Given the description of an element on the screen output the (x, y) to click on. 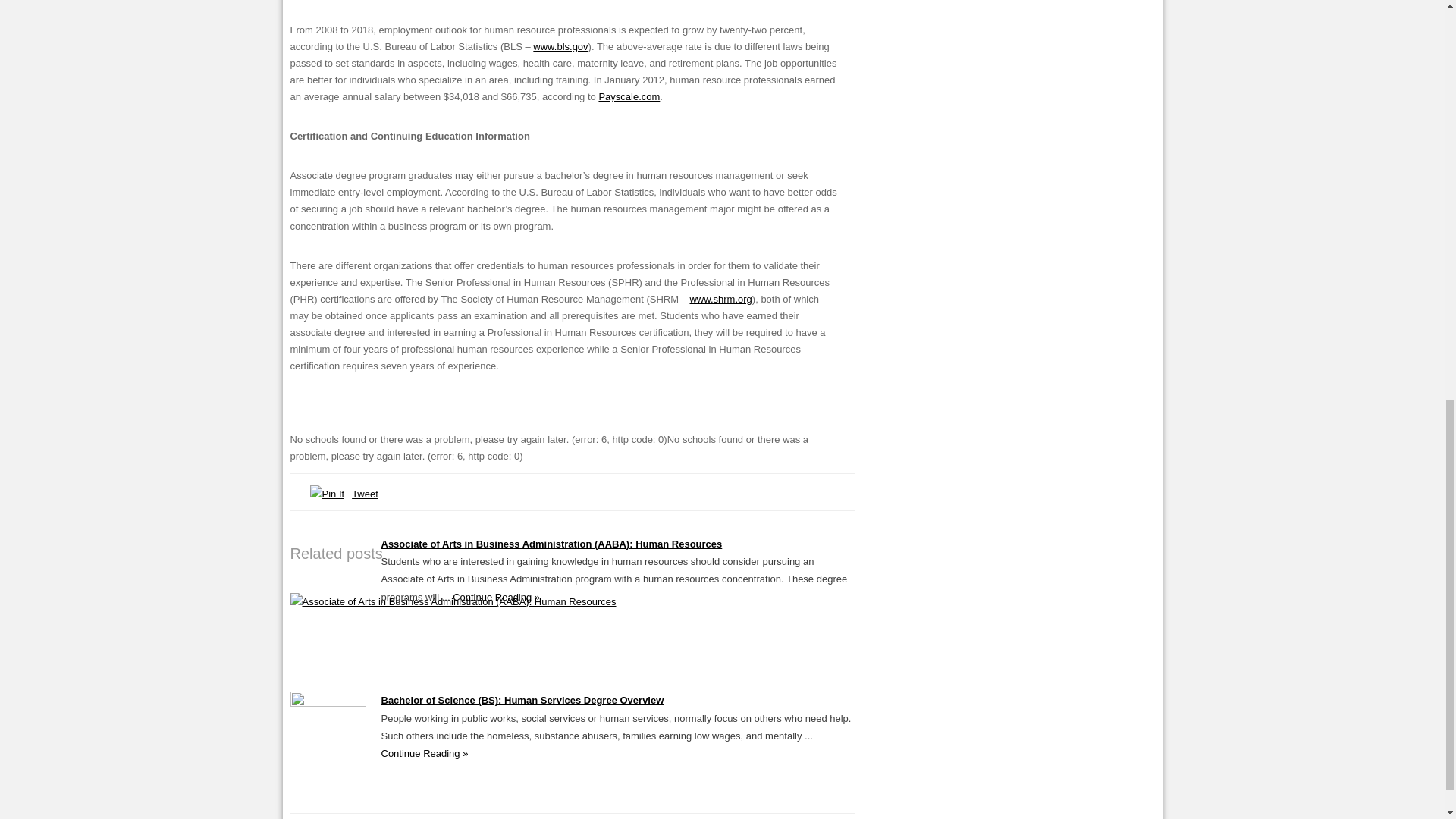
www.bls.gov (560, 46)
Pin It (325, 493)
Payscale.com (628, 96)
www.shrm.org (719, 298)
Tweet (365, 493)
